Given the description of an element on the screen output the (x, y) to click on. 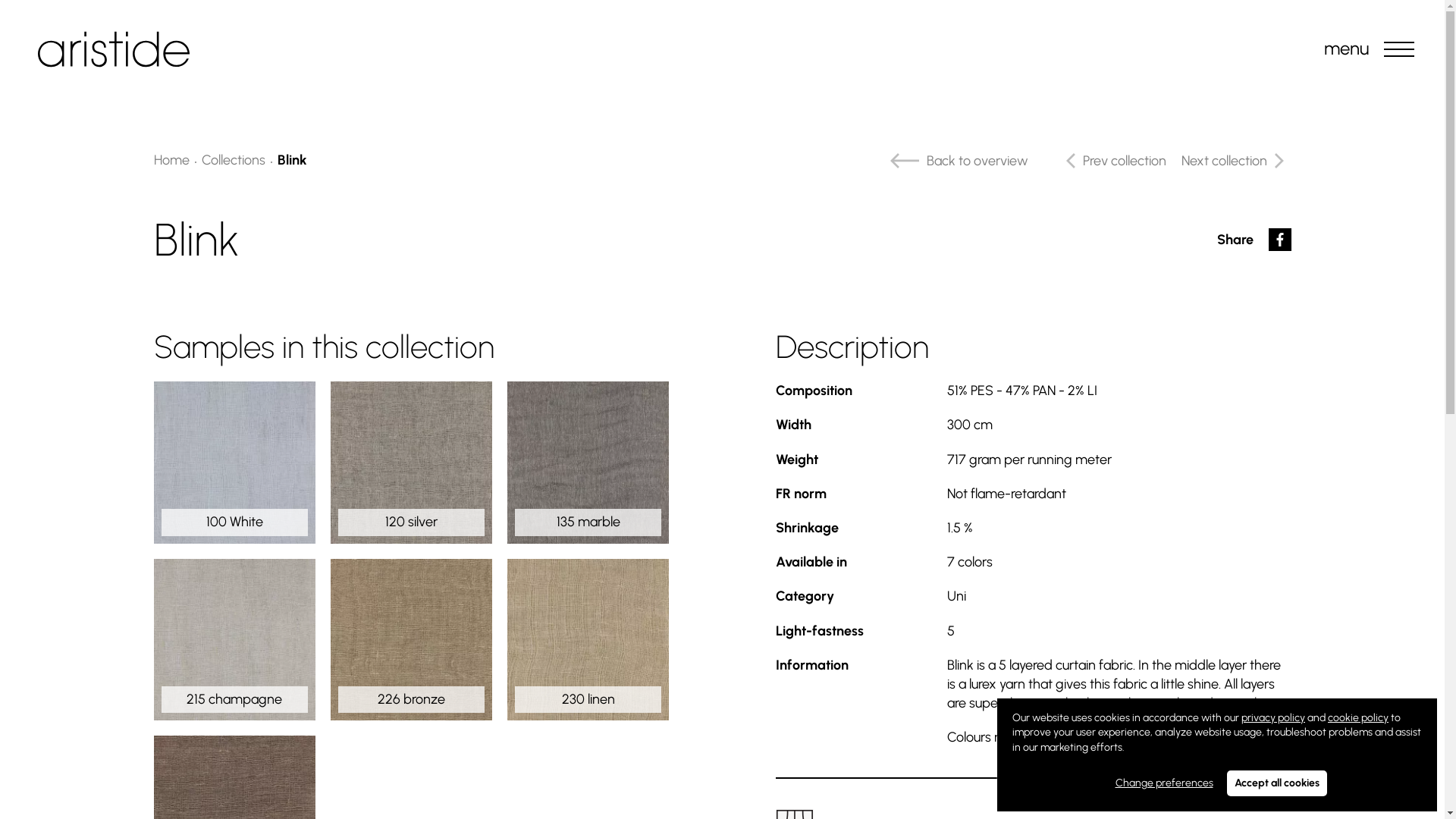
Home Element type: text (170, 159)
135 marble Blink Element type: hover (587, 461)
cookie policy Element type: text (1357, 717)
100 White Blink Element type: hover (233, 461)
120 silver Blink Element type: hover (411, 461)
215 champagne Element type: text (233, 639)
Visit us on Facebook Element type: hover (1278, 239)
135 marble Element type: text (587, 461)
226 bronze Blink Element type: hover (411, 639)
privacy policy Element type: text (1273, 717)
230 linen Element type: text (587, 639)
Next collection Element type: text (1236, 160)
Prev collection Element type: text (1112, 160)
215 champagne Blink Element type: hover (233, 639)
Collections Element type: text (233, 159)
226 bronze Element type: text (411, 639)
100 White Element type: text (233, 461)
Accept all cookies Element type: text (1276, 783)
menu Element type: text (1398, 49)
120 silver Element type: text (411, 461)
Back to overview Element type: text (955, 160)
230 linen Blink Element type: hover (587, 639)
